Given the description of an element on the screen output the (x, y) to click on. 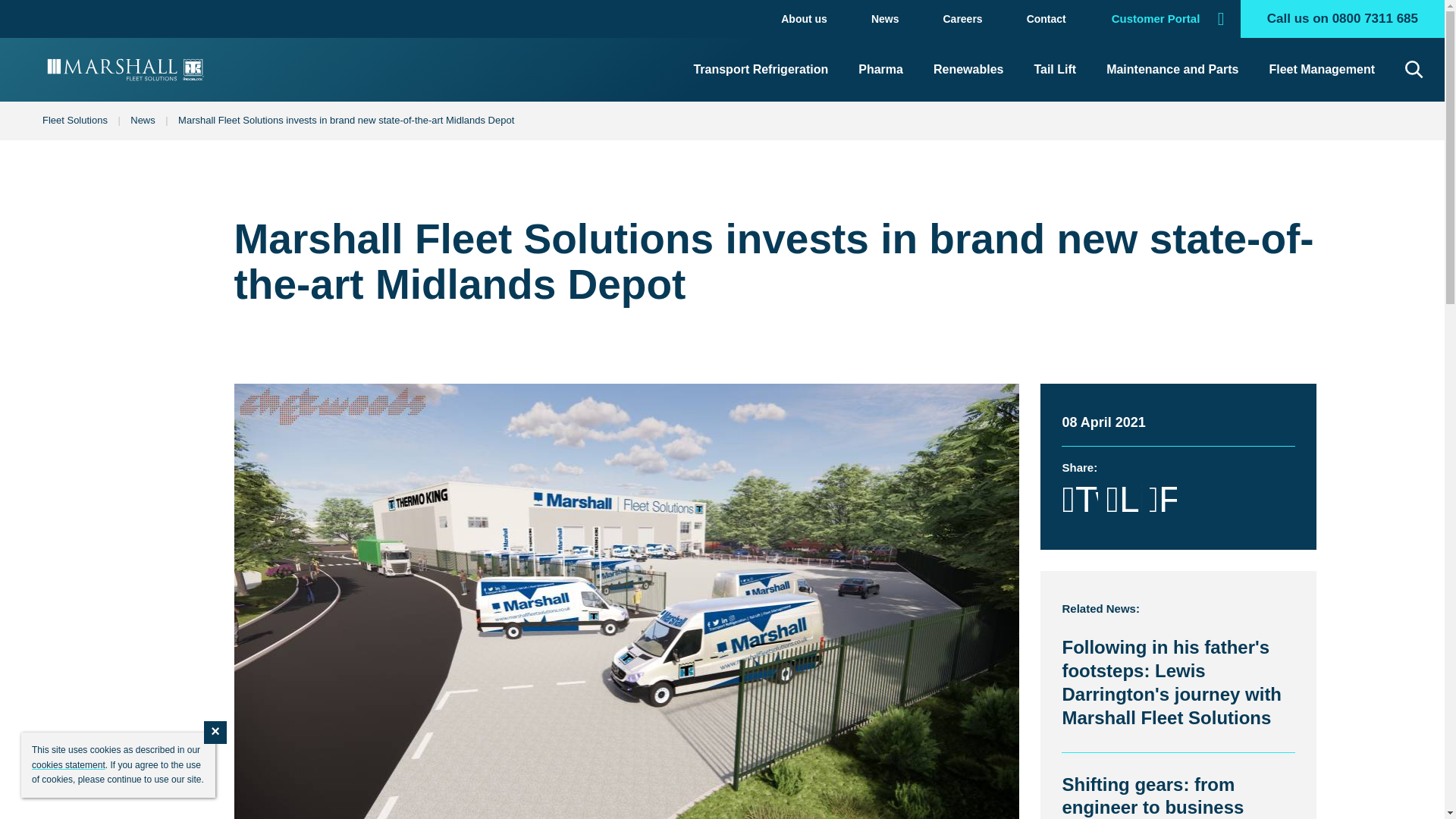
Shifting gears: from engineer to business development (1152, 796)
Fleet Solutions (74, 120)
Fleet Management (1321, 69)
Maintenance and Parts (1172, 69)
Transport Refrigeration (760, 69)
Linkedin (1123, 499)
Marshall Fleet Solutions (125, 69)
News (884, 18)
Customer Portal (1163, 18)
Renewables (968, 69)
About us (803, 18)
Search (1385, 69)
News (142, 120)
Careers (962, 18)
